Given the description of an element on the screen output the (x, y) to click on. 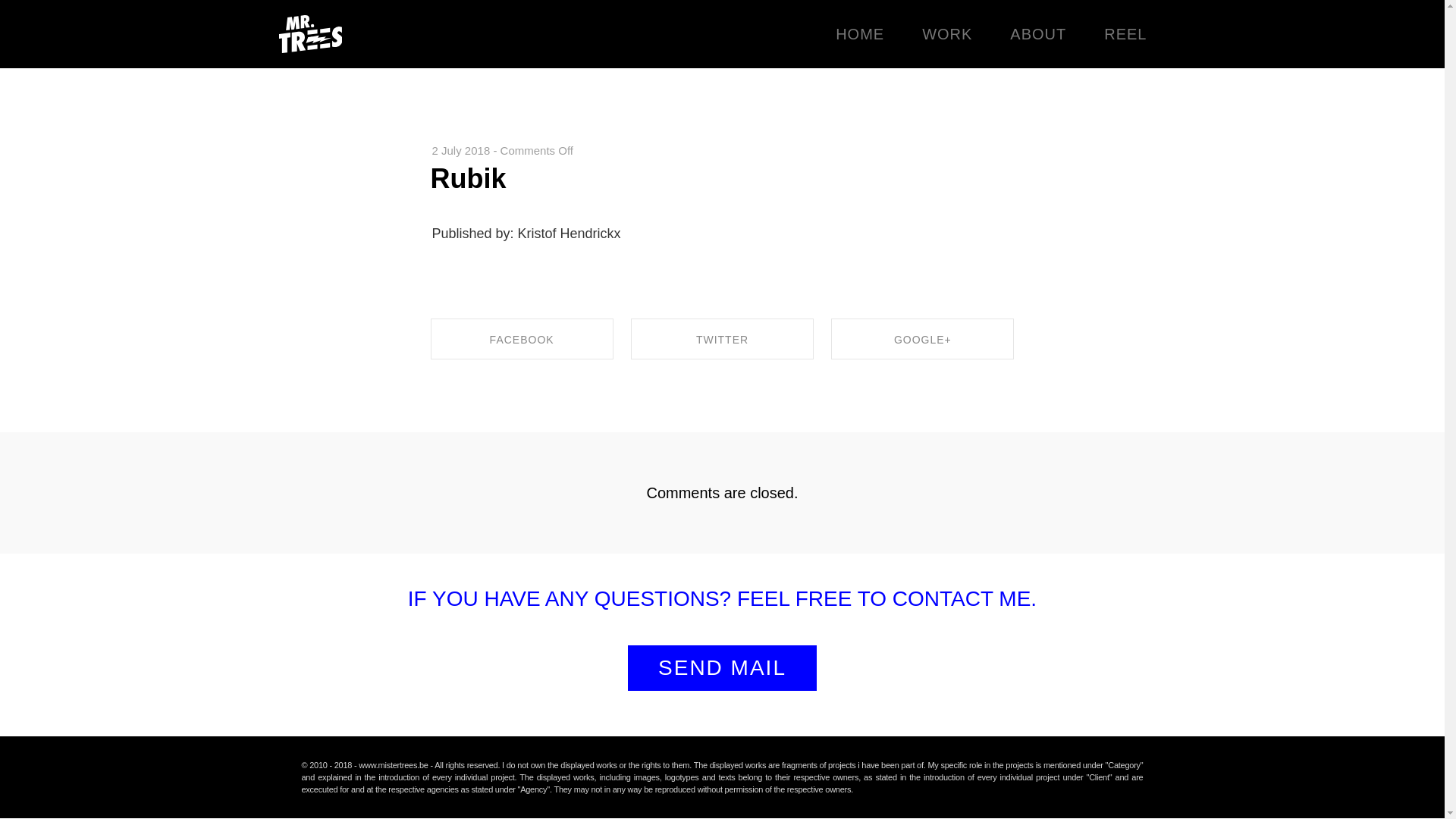
REEL (1125, 33)
WORK (946, 33)
Kristof Hendrickx (310, 32)
HOME (859, 33)
ABOUT (1037, 33)
2 July 2018 (461, 150)
SEND MAIL (721, 668)
Rubik (468, 178)
